Given the description of an element on the screen output the (x, y) to click on. 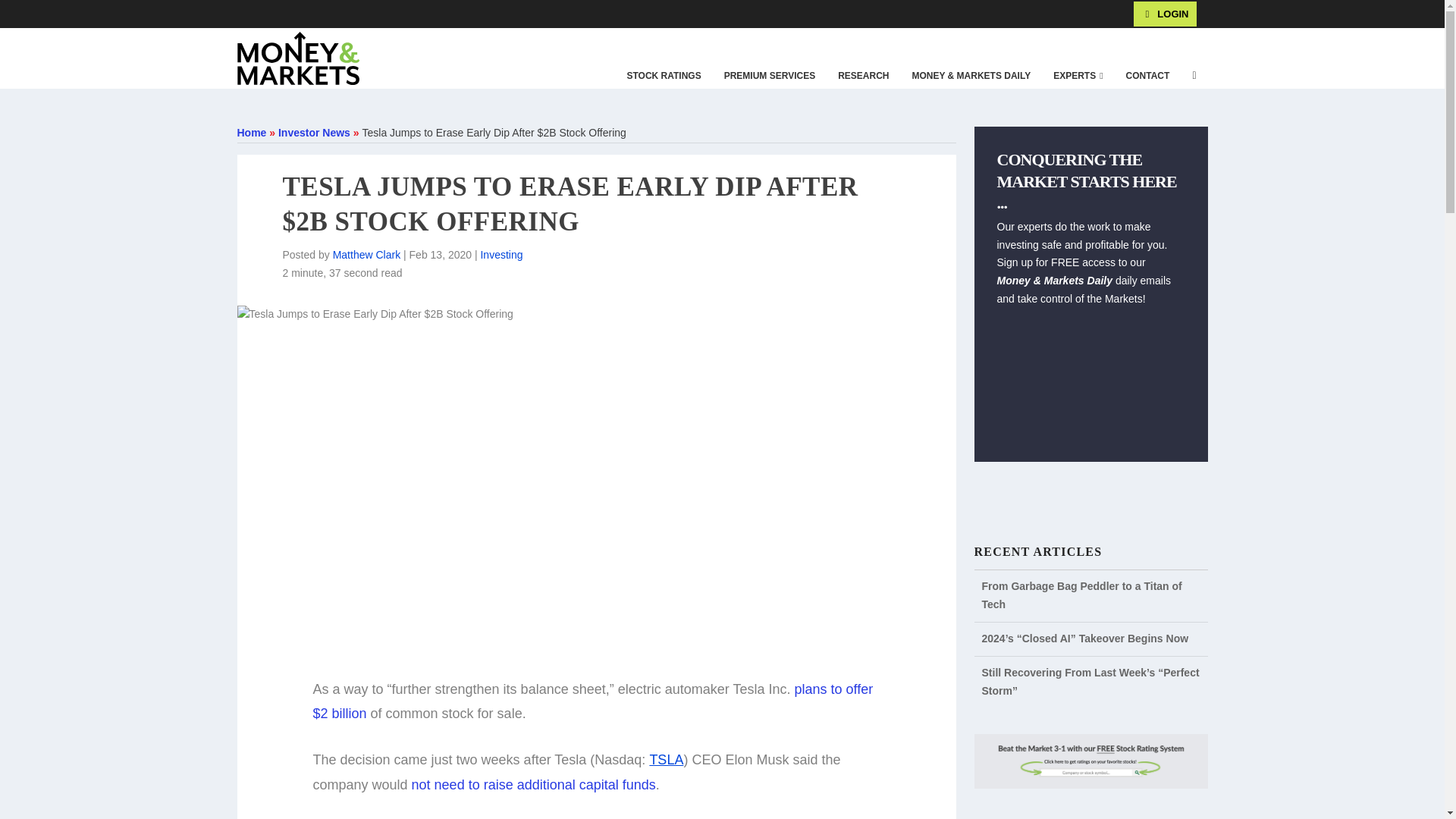
Investor News (314, 132)
Banyan Hill (173, 13)
not need to raise additional capital funds (534, 784)
Posts by Matthew Clark (366, 254)
EXPERTS (1077, 75)
CONTACT (1147, 75)
RESEARCH (863, 75)
Home (250, 132)
Total Wealth Fellowship (253, 13)
Matthew Clark (366, 254)
